Given the description of an element on the screen output the (x, y) to click on. 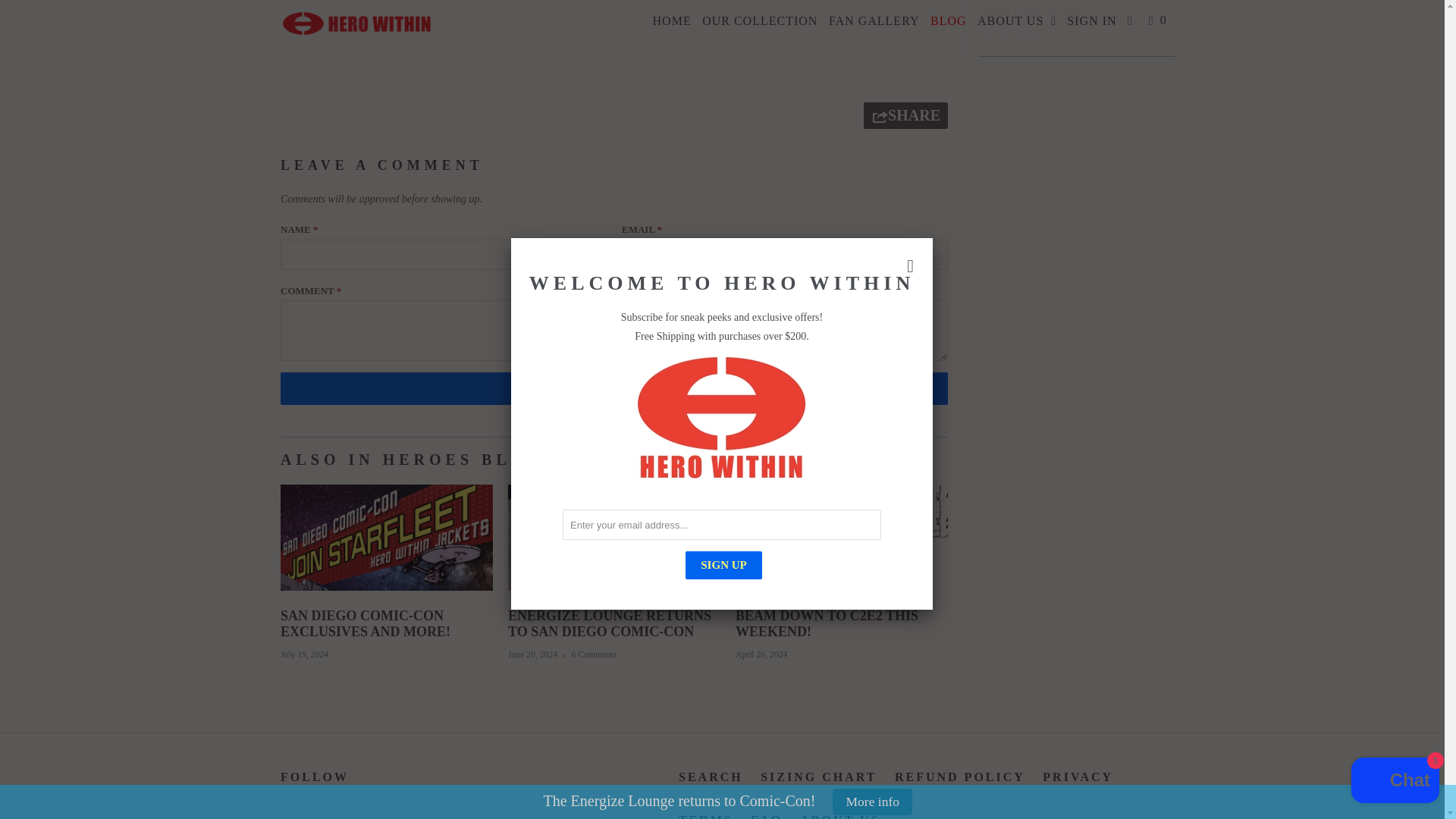
Post comment (614, 388)
